Given the description of an element on the screen output the (x, y) to click on. 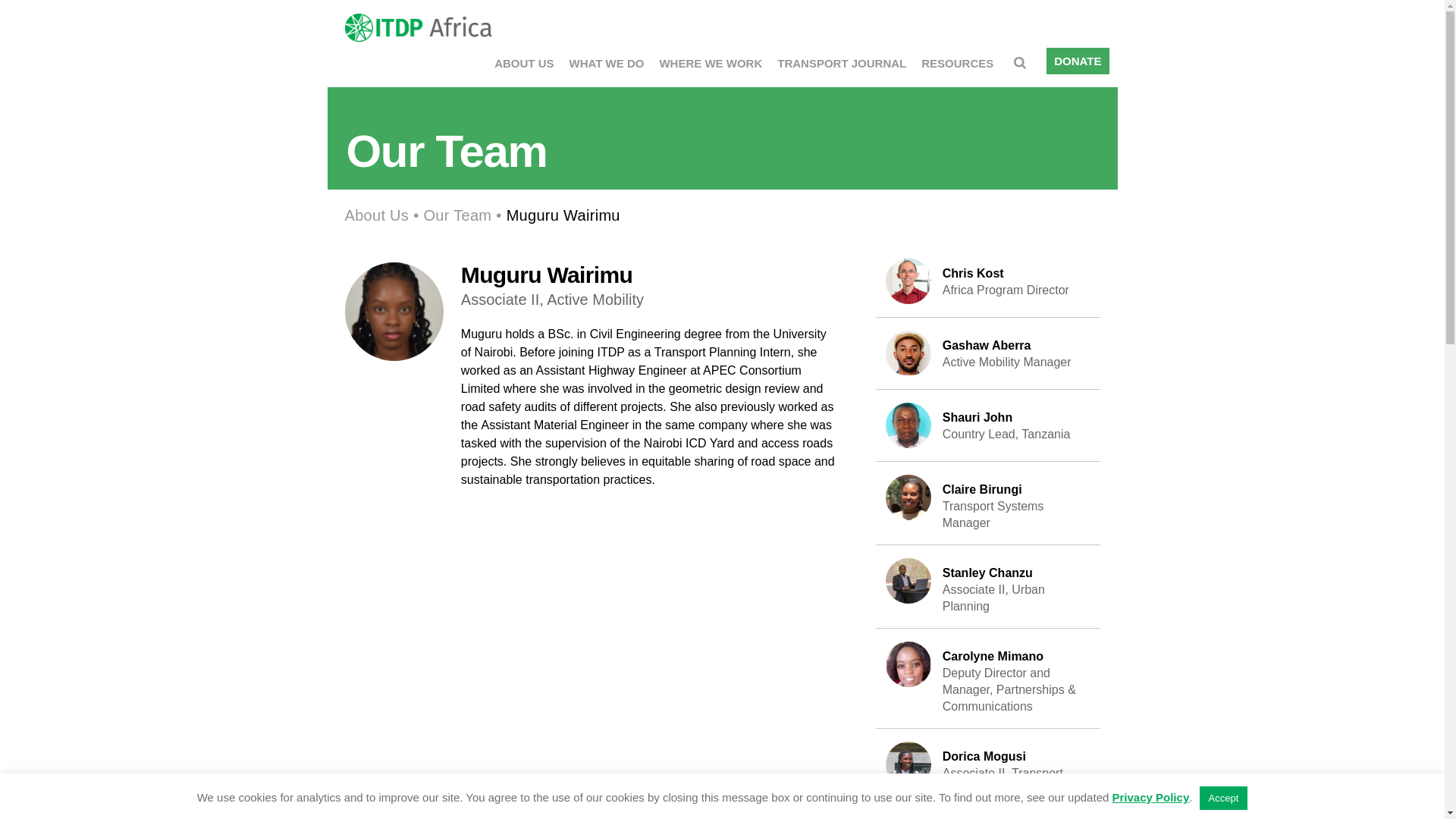
Our Team (988, 502)
ABOUT US (457, 215)
Chris-website-1 (988, 769)
About Us (524, 61)
TRANSPORT JOURNAL (908, 280)
WHERE WE WORK (376, 215)
Claire-Birungi-334x334 (841, 61)
gashaw 2 (710, 61)
Dorica Mogusi (988, 425)
